Given the description of an element on the screen output the (x, y) to click on. 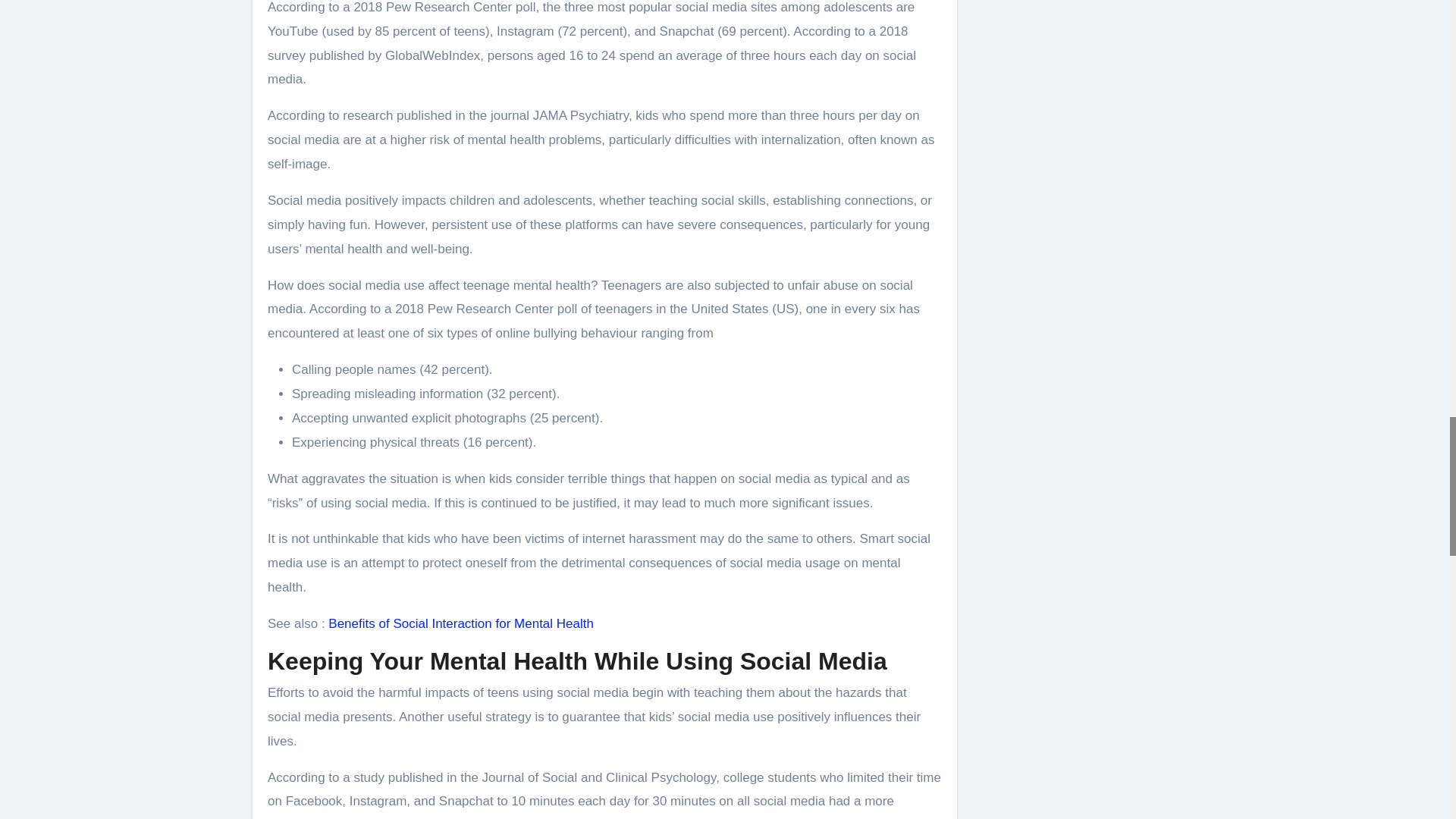
Benefits of Social Interaction for Mental Health (461, 623)
